Given the description of an element on the screen output the (x, y) to click on. 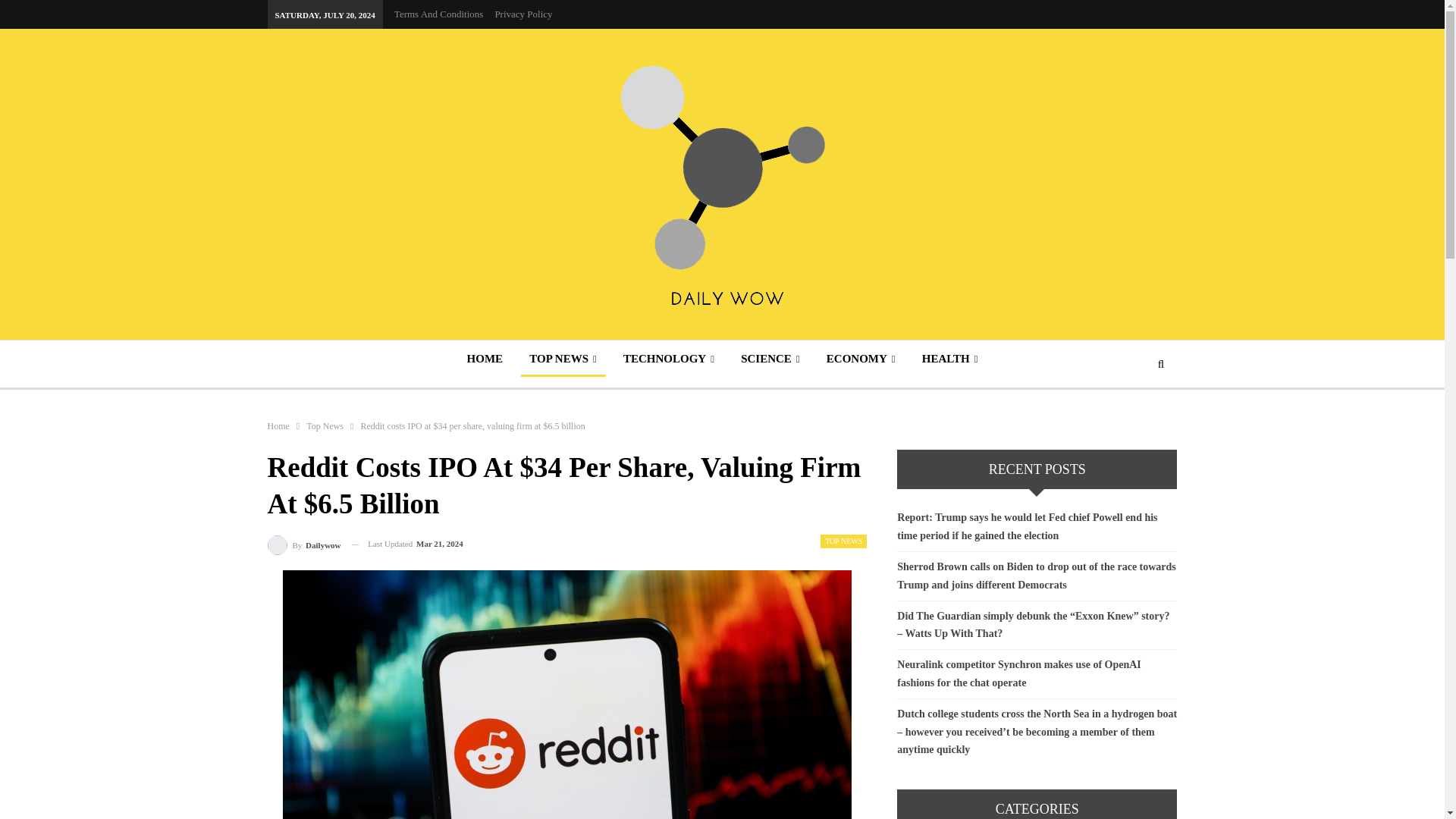
Terms And Conditions (438, 13)
TECHNOLOGY (668, 358)
SCIENCE (770, 358)
HOME (485, 358)
Privacy Policy (523, 13)
TOP NEWS (562, 358)
